Given the description of an element on the screen output the (x, y) to click on. 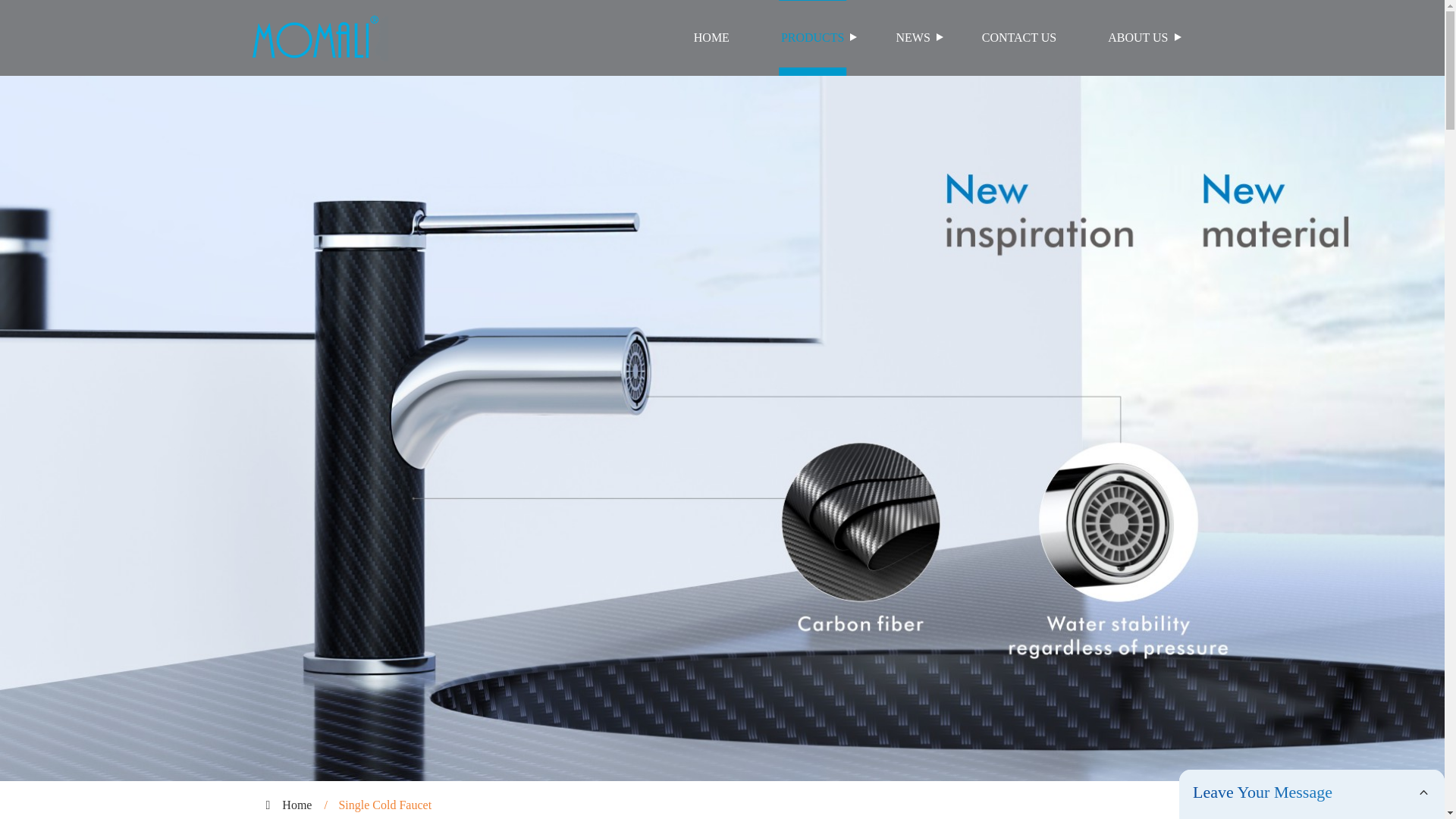
CONTACT US (1018, 38)
Home (296, 804)
PRODUCTS (812, 38)
